Given the description of an element on the screen output the (x, y) to click on. 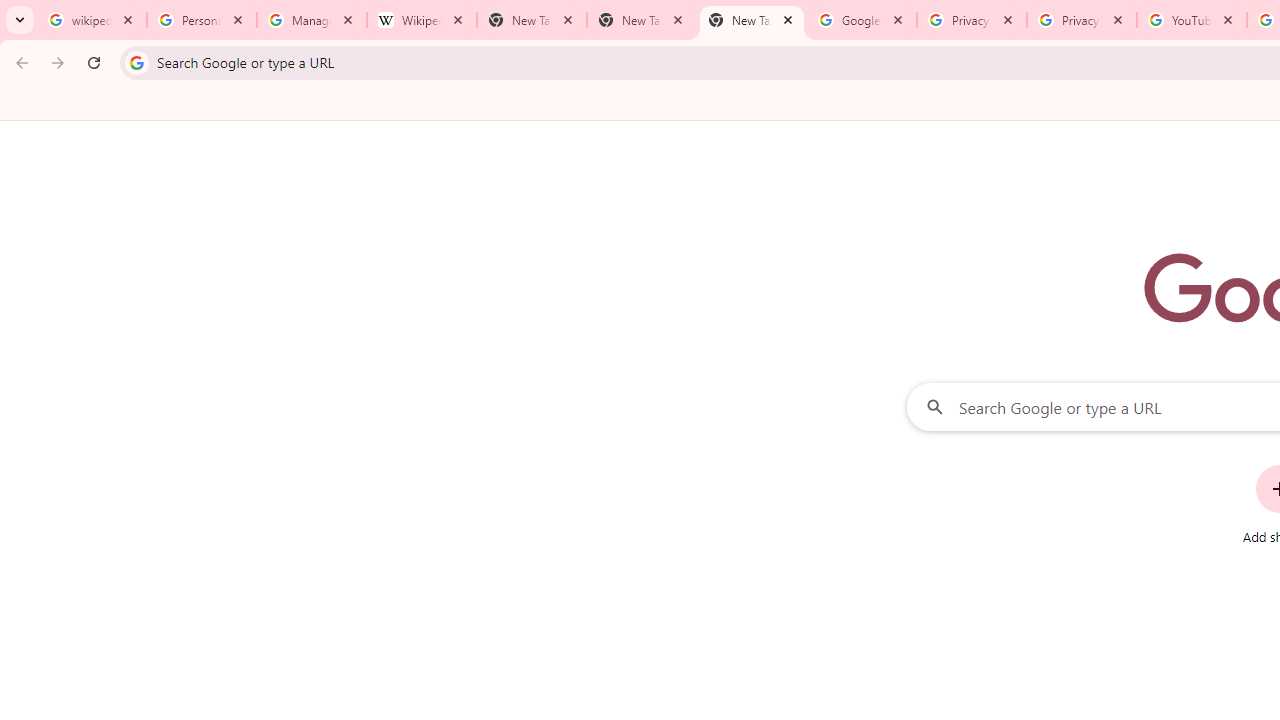
Personalization & Google Search results - Google Search Help (202, 20)
